Given the description of an element on the screen output the (x, y) to click on. 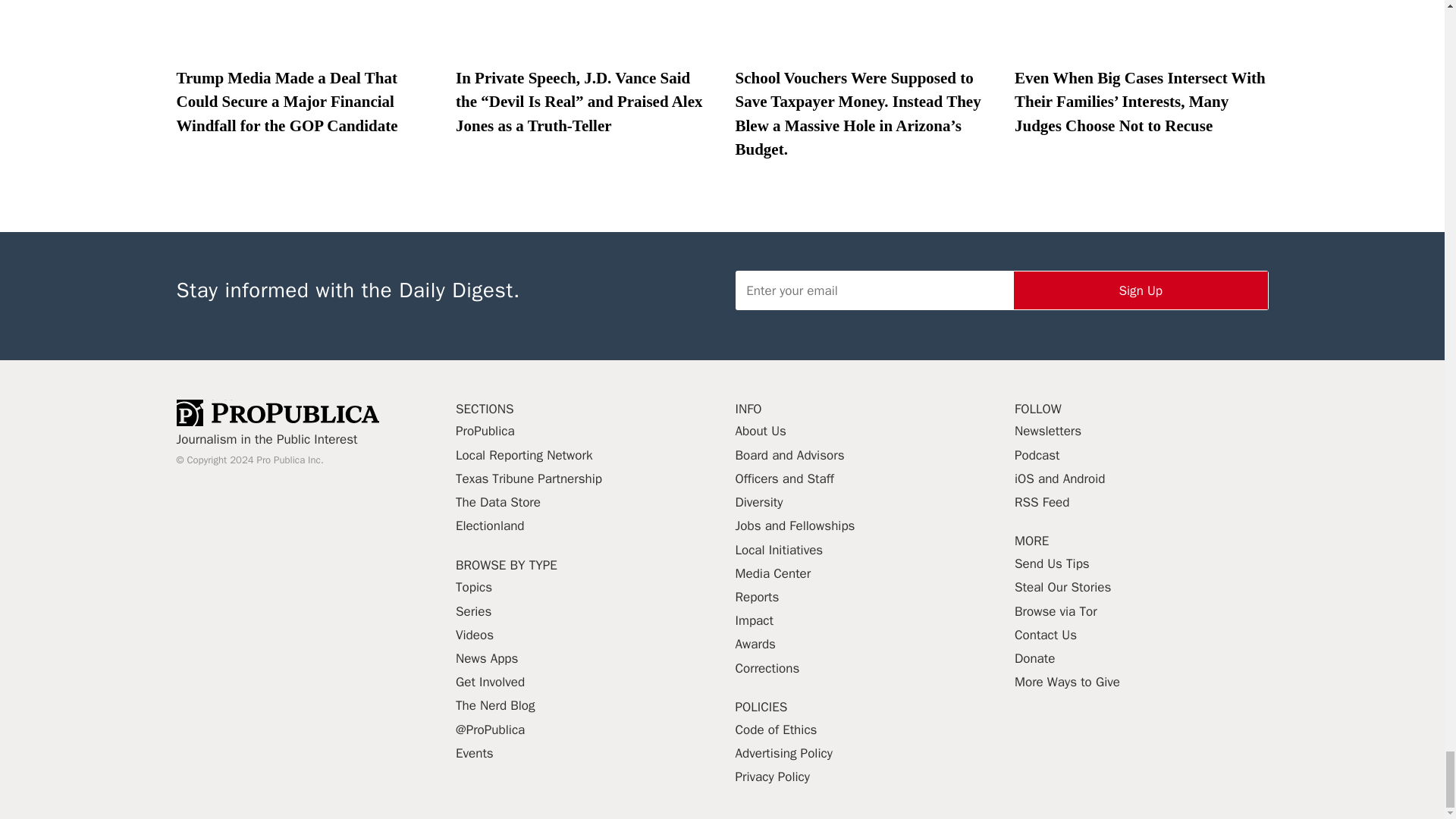
Sign Up (1140, 290)
